Given the description of an element on the screen output the (x, y) to click on. 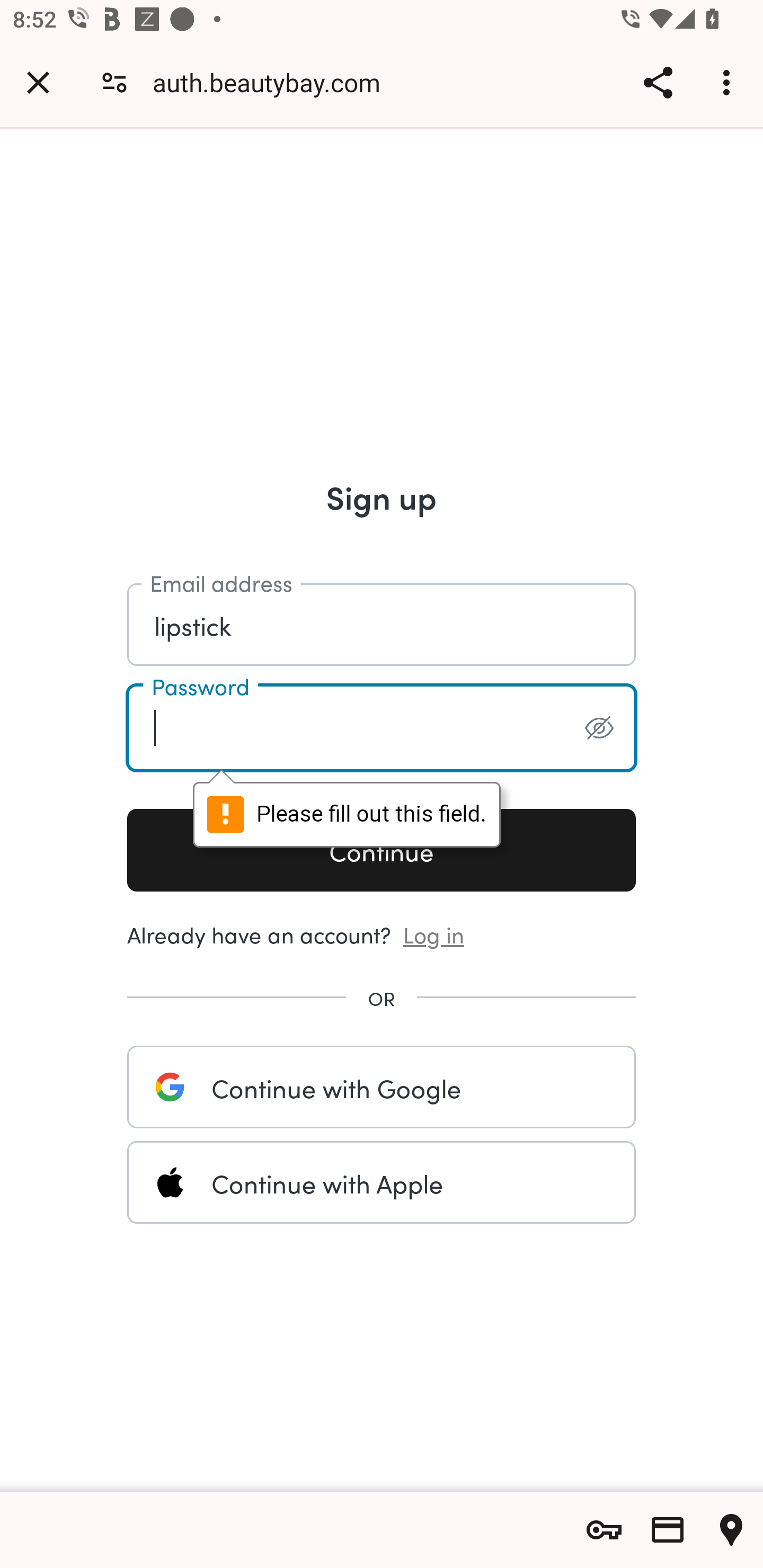
Close tab (38, 82)
Share (657, 82)
Customize and control Google Chrome (729, 82)
Connection is secure (114, 81)
auth.beautybay.com (272, 81)
lipstick (381, 624)
Hide password (599, 727)
Log in (433, 933)
Continue with Google (381, 1086)
Continue with Apple (381, 1182)
Show saved passwords and password options (603, 1530)
Show saved payment methods (667, 1530)
Show saved addresses (731, 1530)
